Given the description of an element on the screen output the (x, y) to click on. 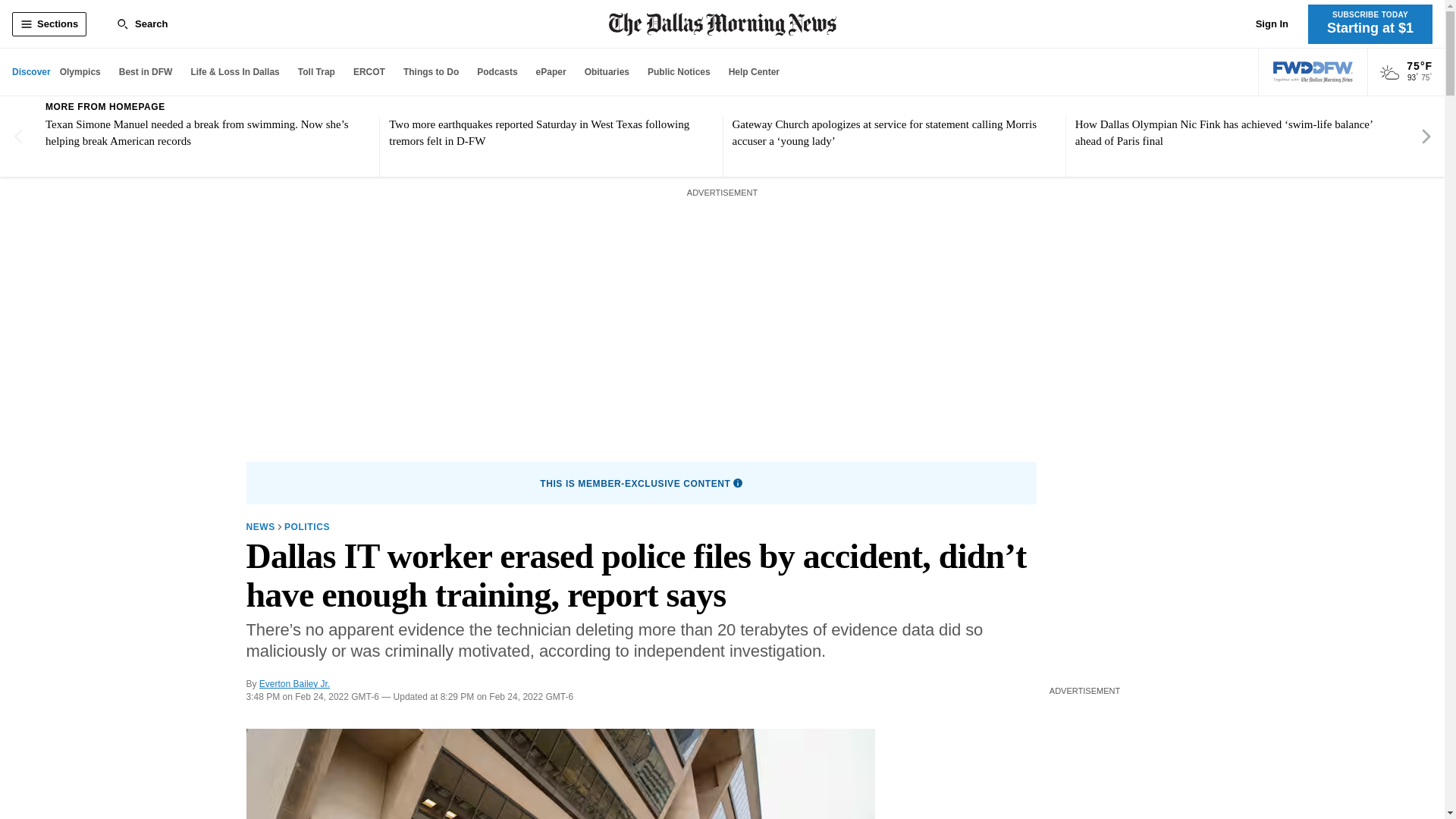
FWD DFW, Together with The Dallas Morning News (1313, 72)
Few clouds (1389, 72)
